Given the description of an element on the screen output the (x, y) to click on. 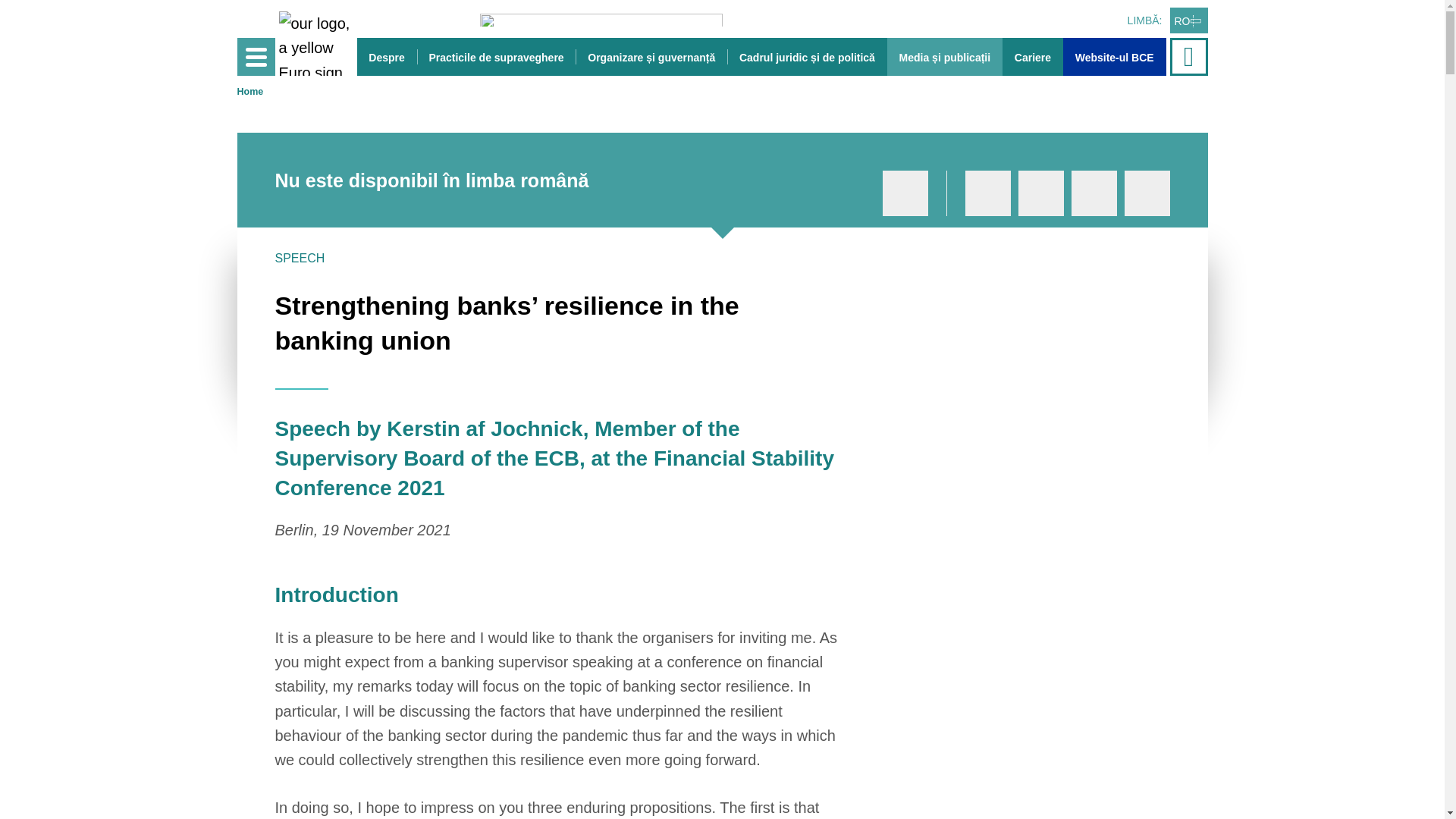
Practicile de supraveghere (496, 56)
Menu (255, 56)
Home (249, 91)
Despre (386, 56)
Website-ul BCE (1114, 56)
Cariere (1032, 56)
Search (1190, 56)
